Given the description of an element on the screen output the (x, y) to click on. 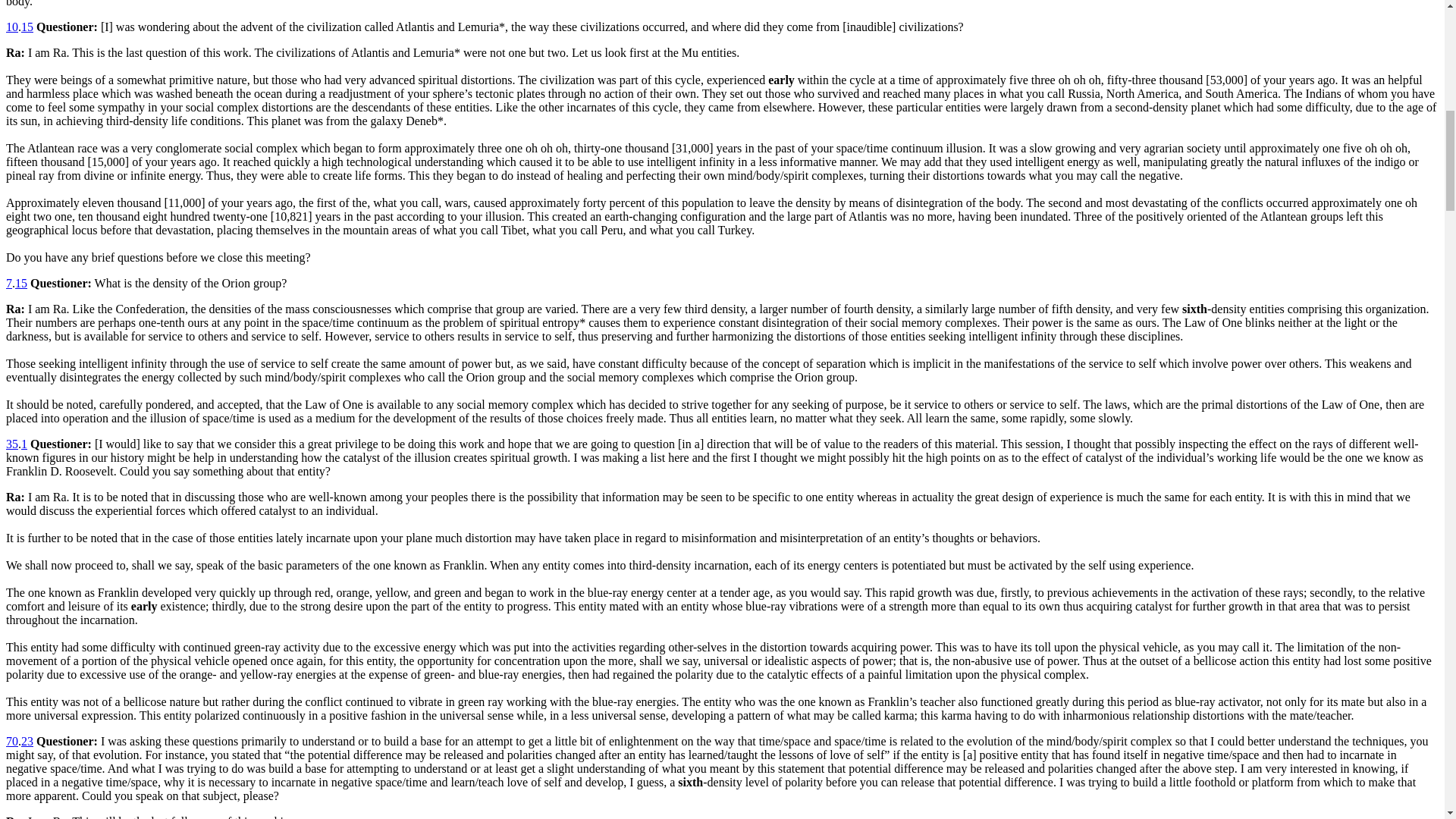
10 (11, 26)
70 (11, 740)
35 (11, 443)
15 (20, 282)
23 (27, 740)
15 (27, 26)
